Given the description of an element on the screen output the (x, y) to click on. 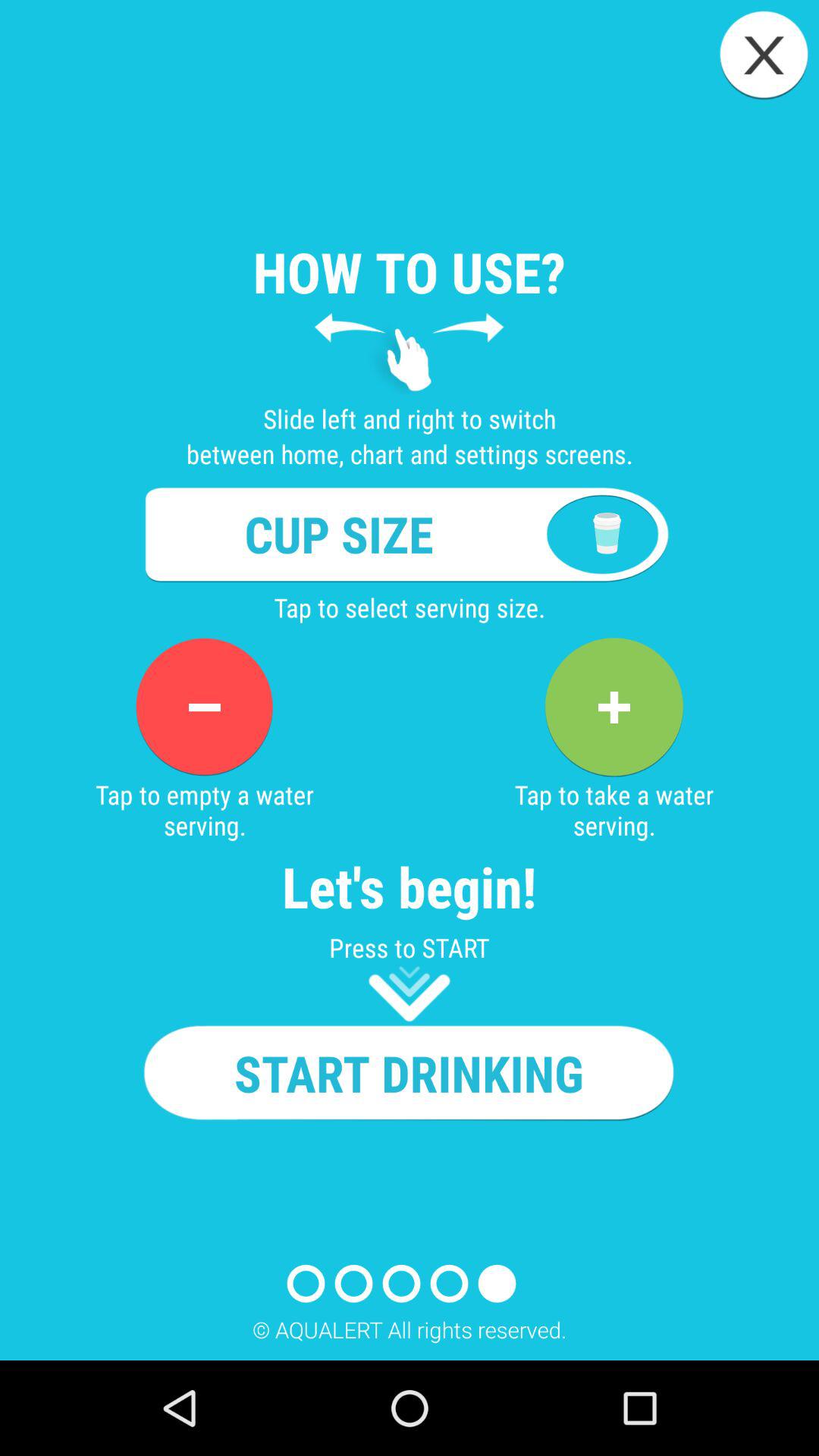
close screen (763, 55)
